Given the description of an element on the screen output the (x, y) to click on. 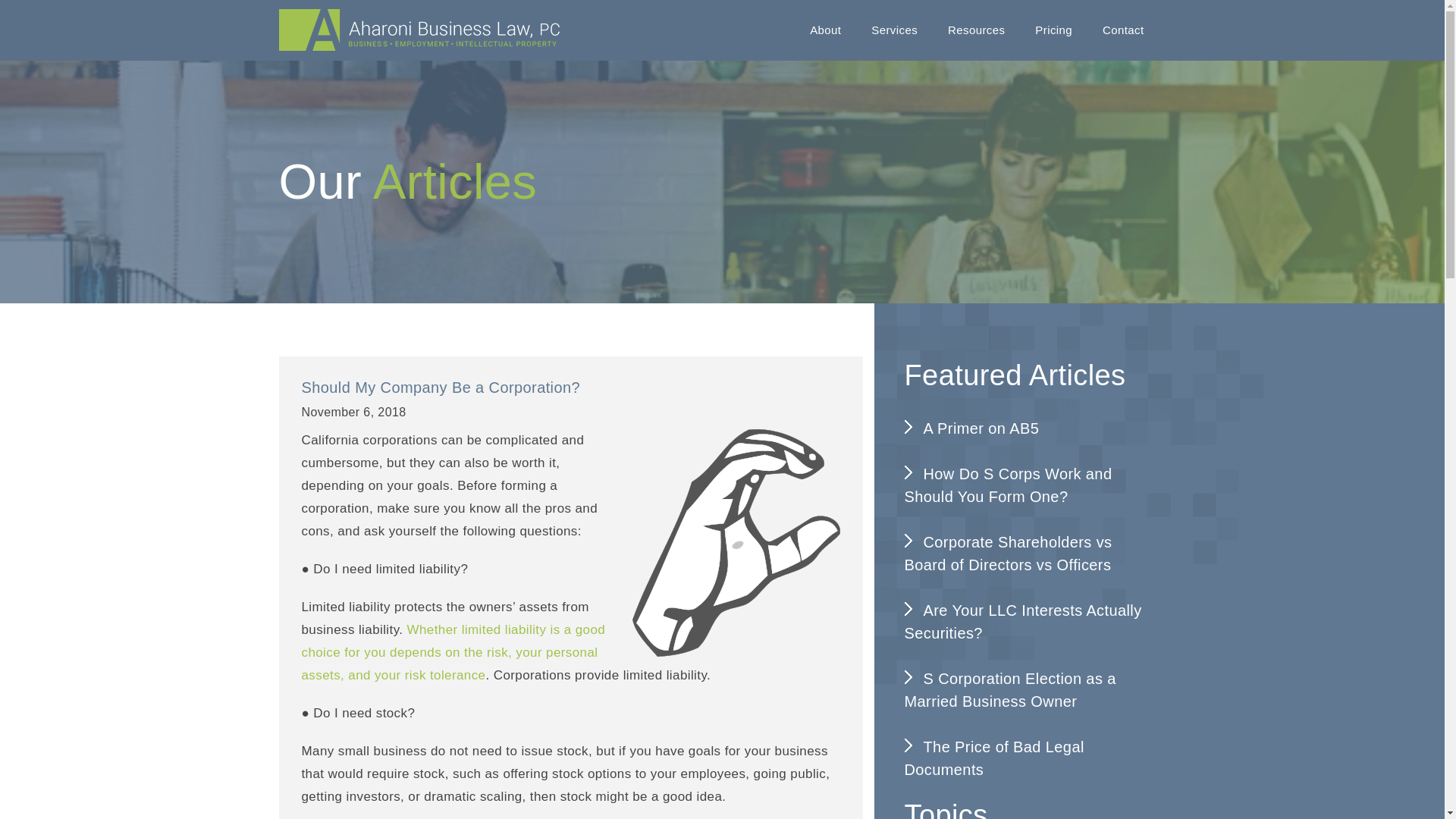
About (825, 30)
The Price of Bad Legal Documents (1025, 758)
Pricing (1054, 30)
S Corporation Election as a Married Business Owner (1025, 689)
Are Your LLC Interests Actually Securities? (1025, 621)
Services (894, 30)
Contact (1123, 30)
Services (894, 30)
Resources (975, 30)
About (825, 30)
